Given the description of an element on the screen output the (x, y) to click on. 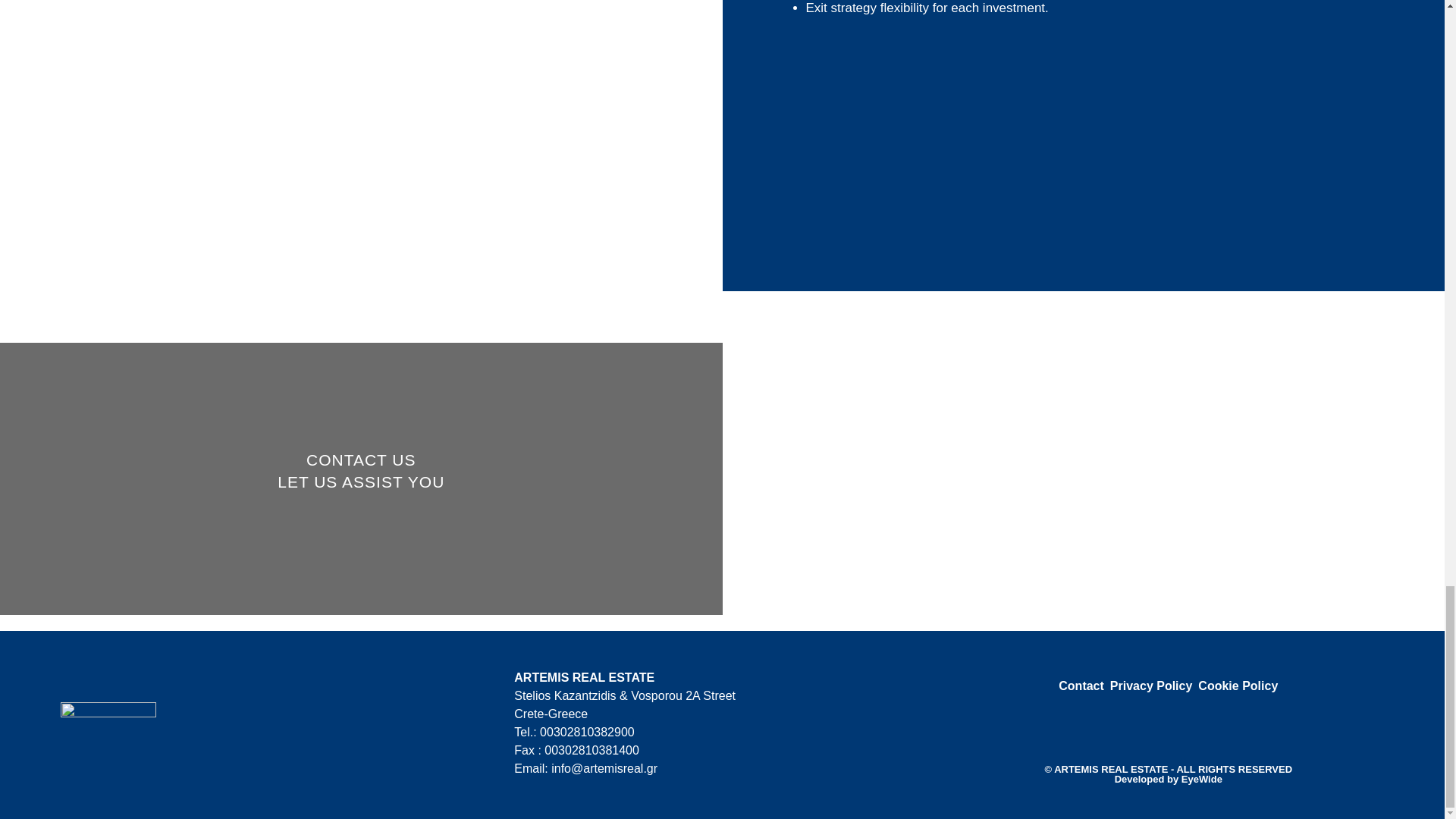
Privacy Policy (1150, 686)
Contact (1080, 686)
EyeWide (1201, 778)
Cookie Policy (1238, 686)
00302810382900 (587, 731)
